Given the description of an element on the screen output the (x, y) to click on. 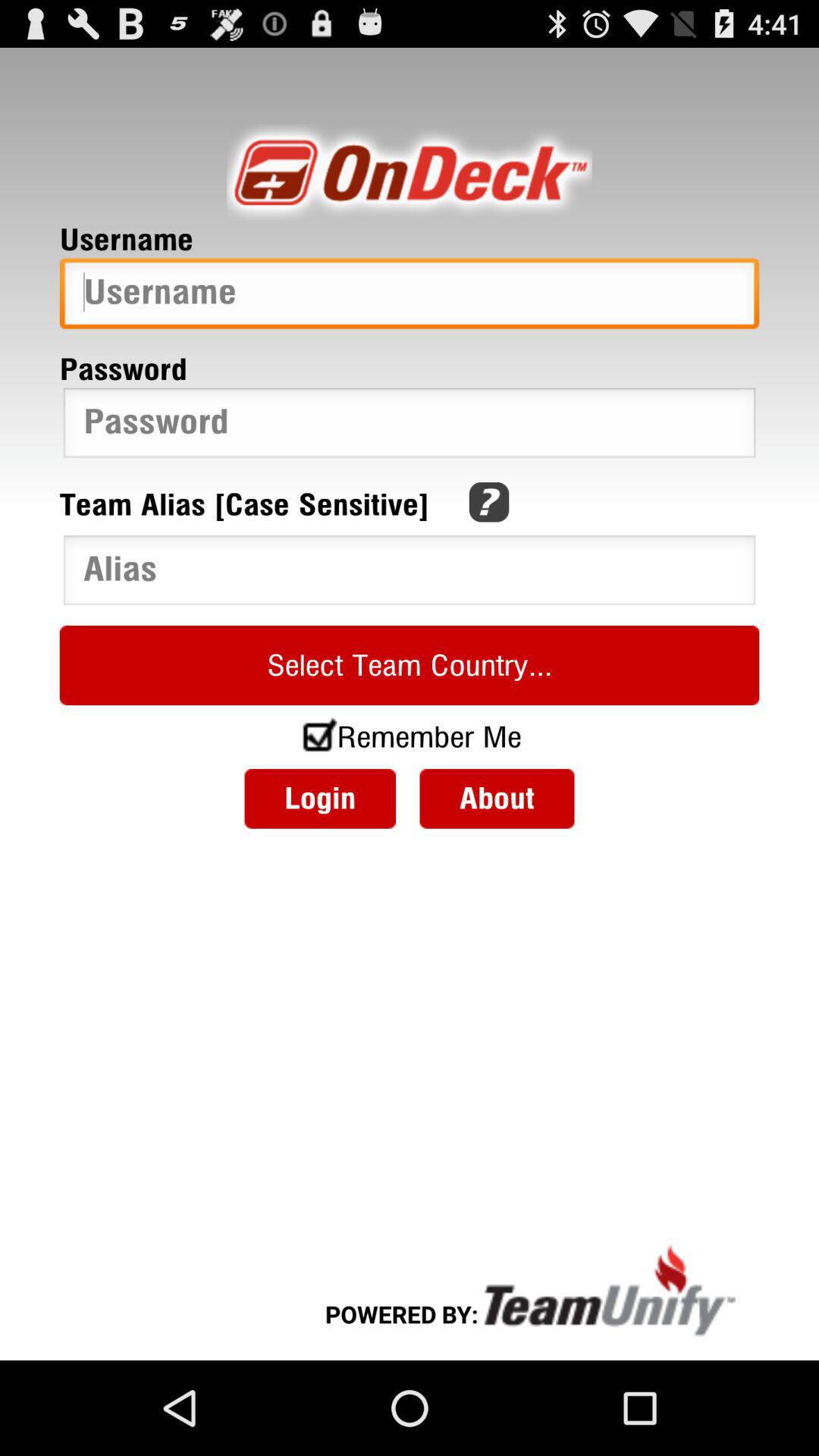
enter alias (409, 573)
